Given the description of an element on the screen output the (x, y) to click on. 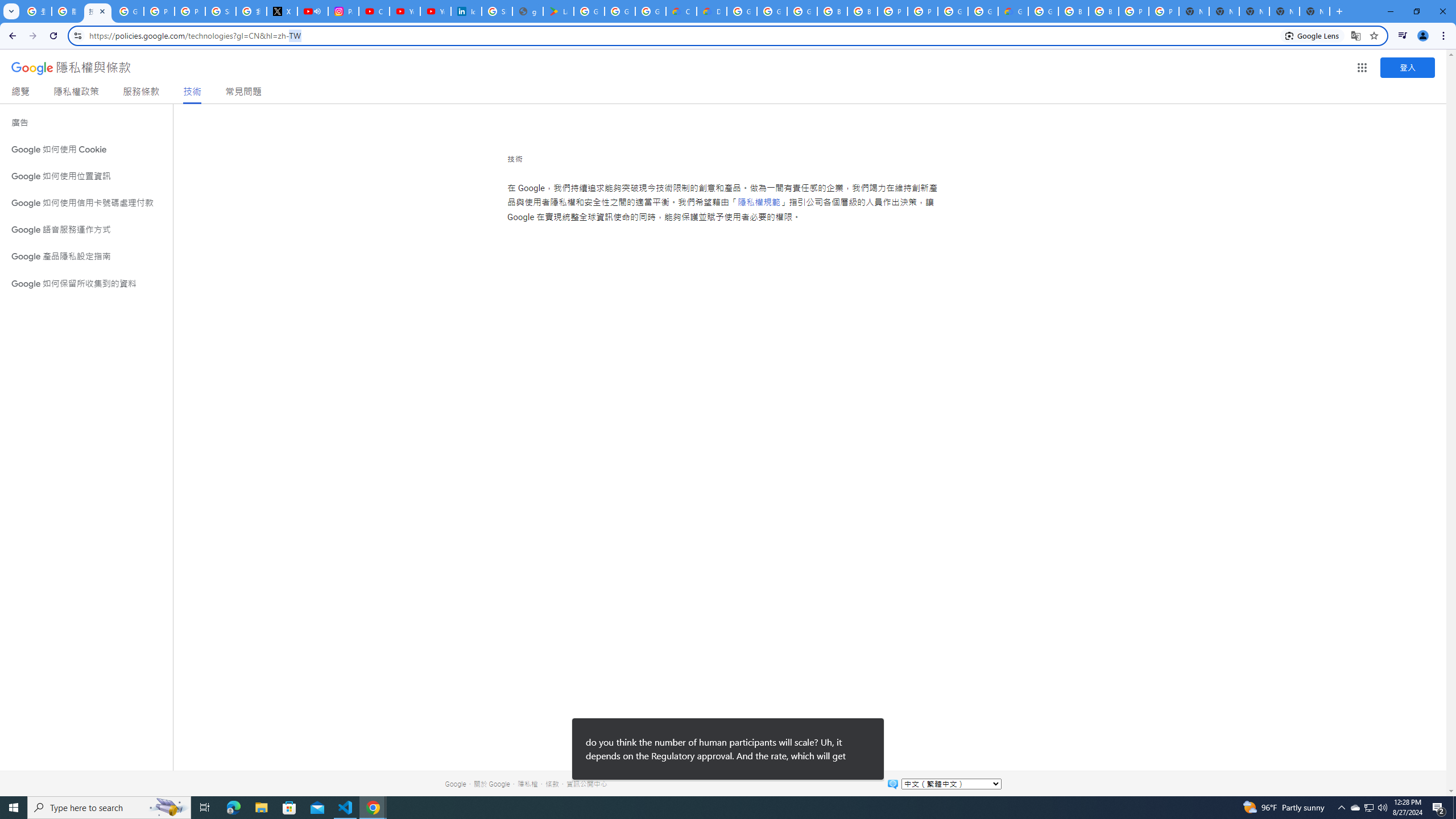
Privacy Help Center - Policies Help (189, 11)
Customer Care | Google Cloud (681, 11)
Google Cloud Estimate Summary (1012, 11)
New Tab (1314, 11)
